Given the description of an element on the screen output the (x, y) to click on. 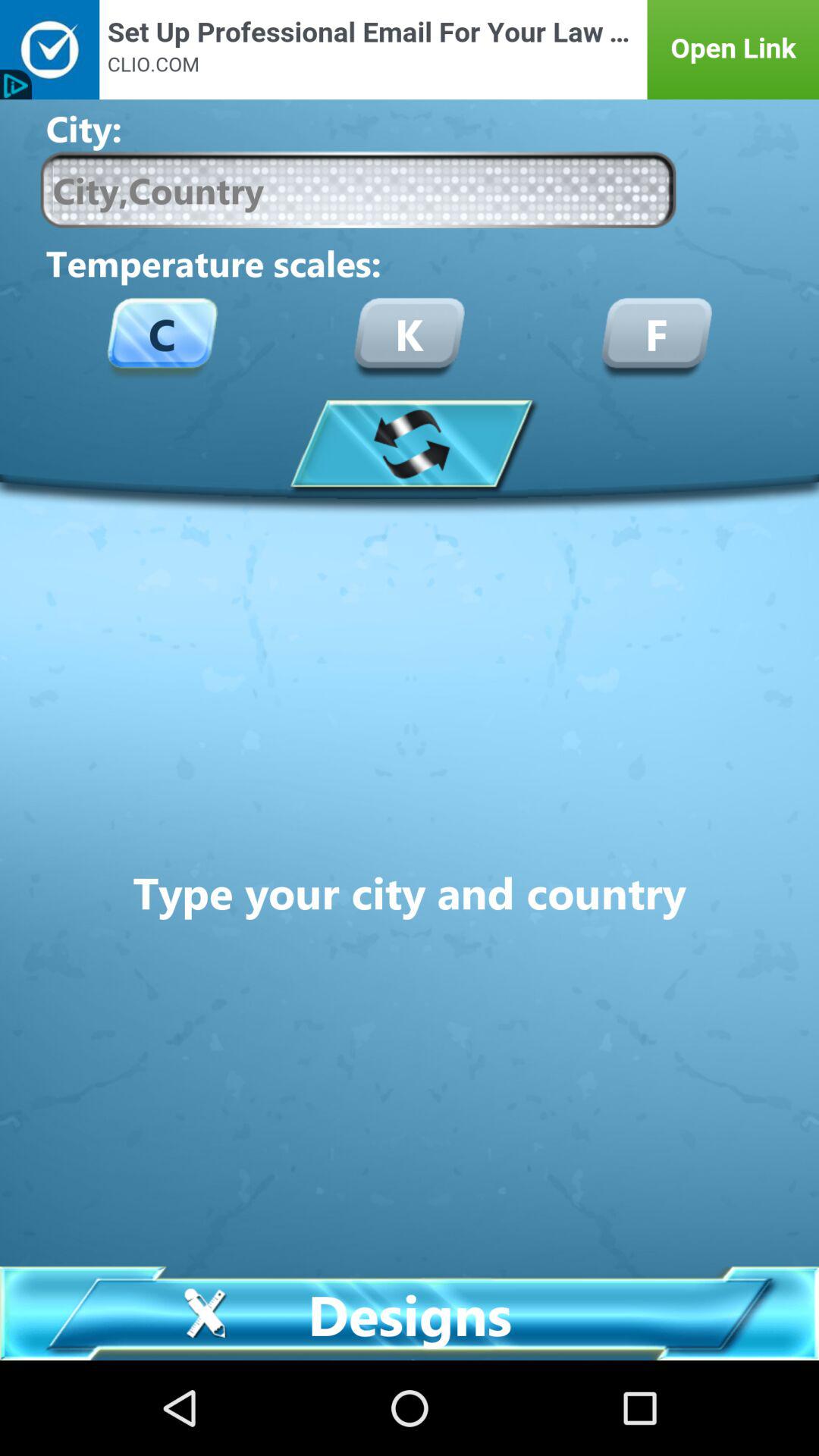
banner advertisement (409, 49)
